Given the description of an element on the screen output the (x, y) to click on. 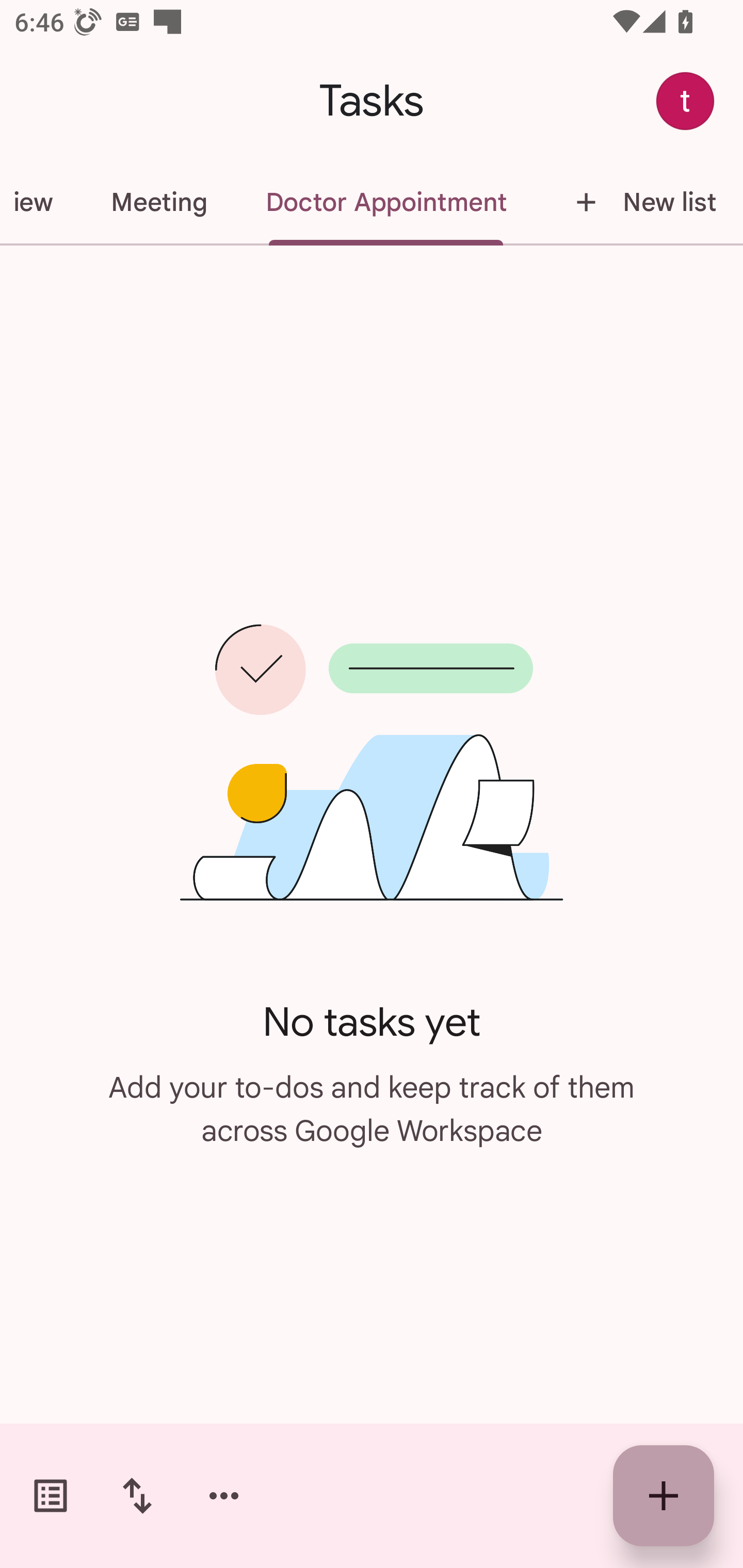
Meeting (158, 202)
New list (639, 202)
Switch task lists (50, 1495)
Create new task (663, 1495)
Change sort order (136, 1495)
More options (223, 1495)
